Given the description of an element on the screen output the (x, y) to click on. 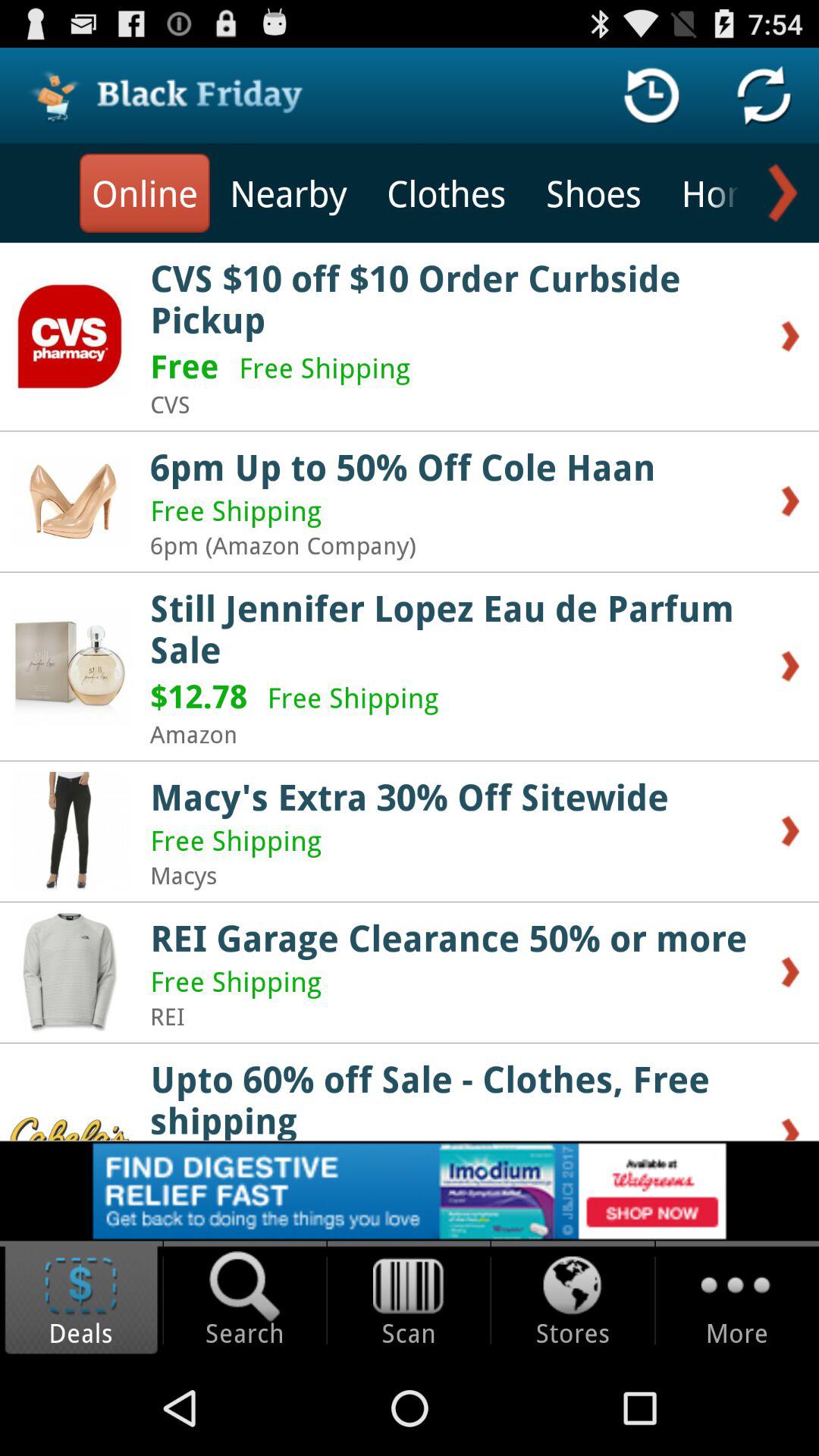
next option (779, 192)
